Given the description of an element on the screen output the (x, y) to click on. 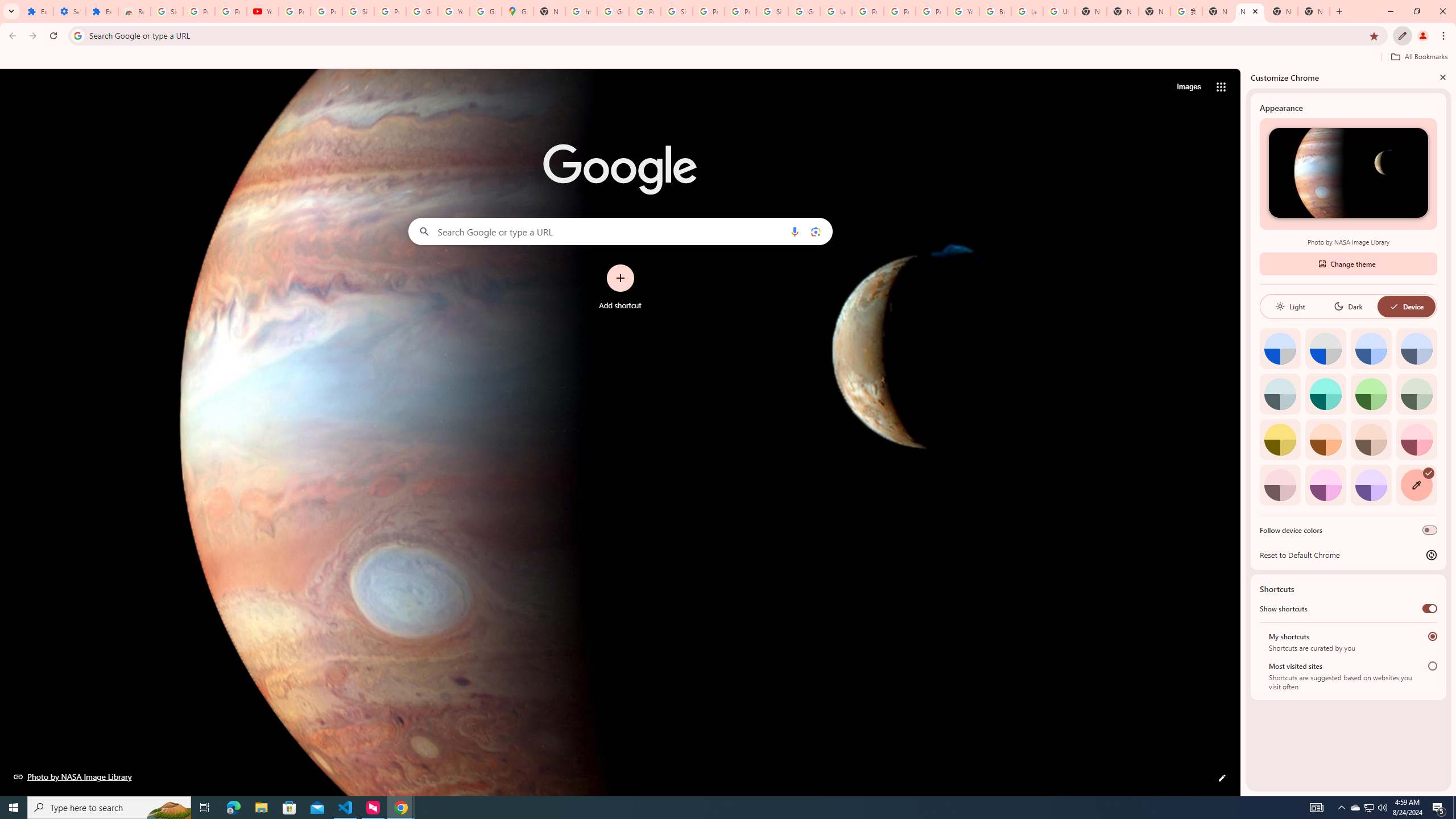
Green (1371, 393)
Photo by NASA Image Library (1348, 172)
Sign in - Google Accounts (166, 11)
Show shortcuts (1429, 608)
Pink (1279, 484)
Reset to Default Chrome (1347, 554)
Side Panel Resize Handle (1242, 431)
YouTube (262, 11)
Apricot (1371, 439)
Search Google or type a URL (619, 230)
Grey (1279, 393)
